Given the description of an element on the screen output the (x, y) to click on. 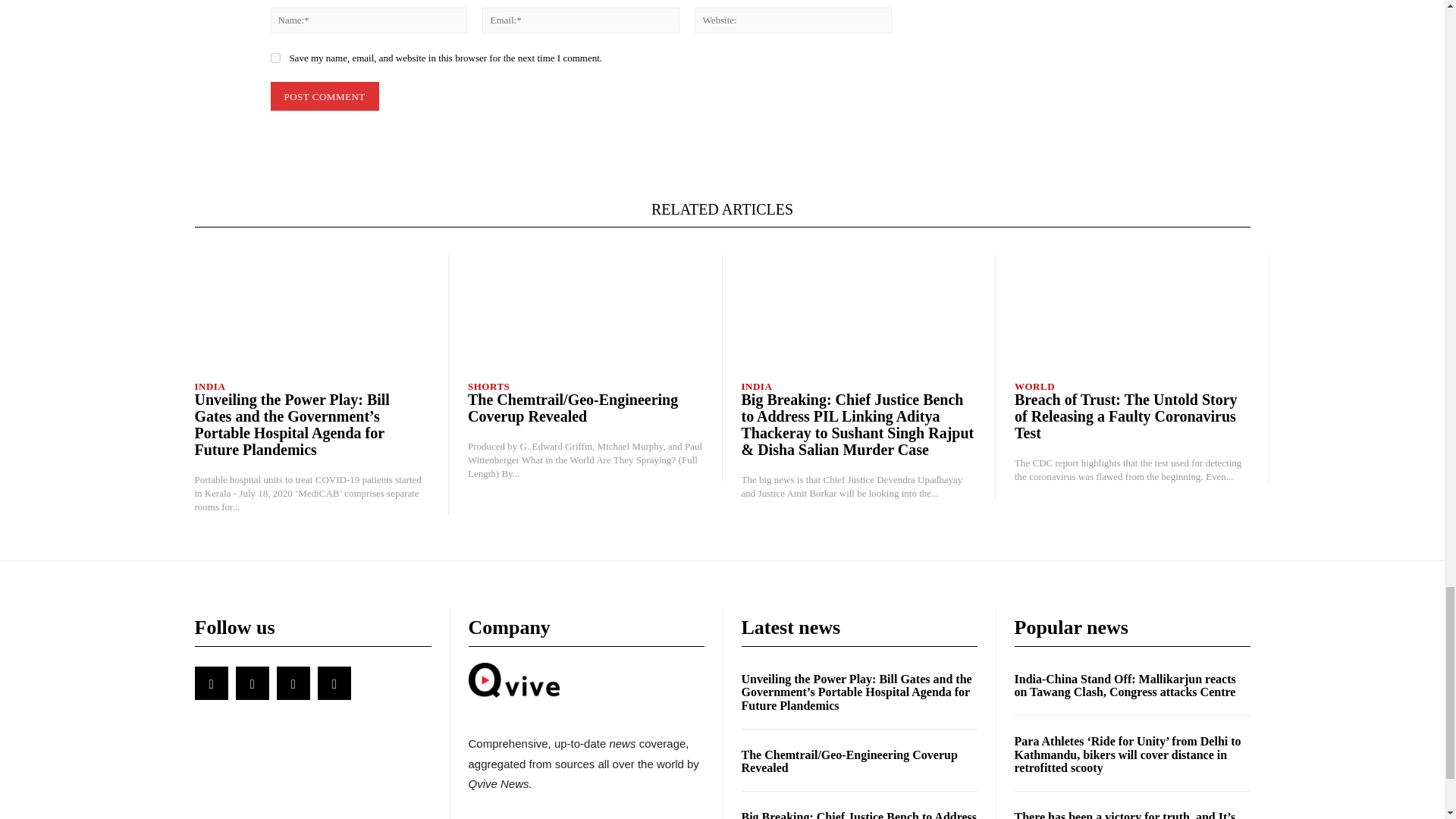
Post Comment (323, 96)
yes (274, 58)
